Given the description of an element on the screen output the (x, y) to click on. 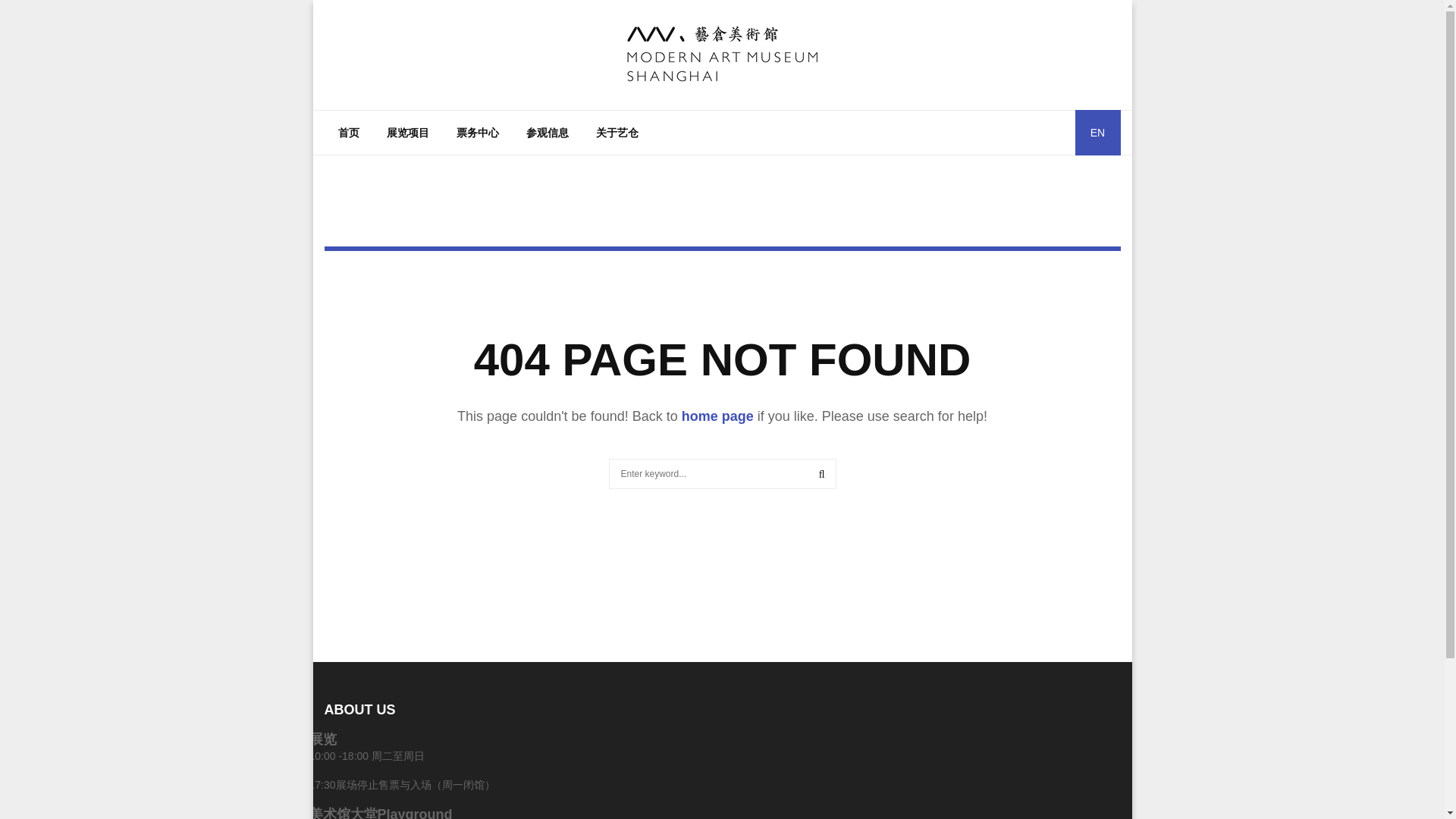
EN (1098, 132)
home page (717, 416)
SEARCH (821, 473)
